Given the description of an element on the screen output the (x, y) to click on. 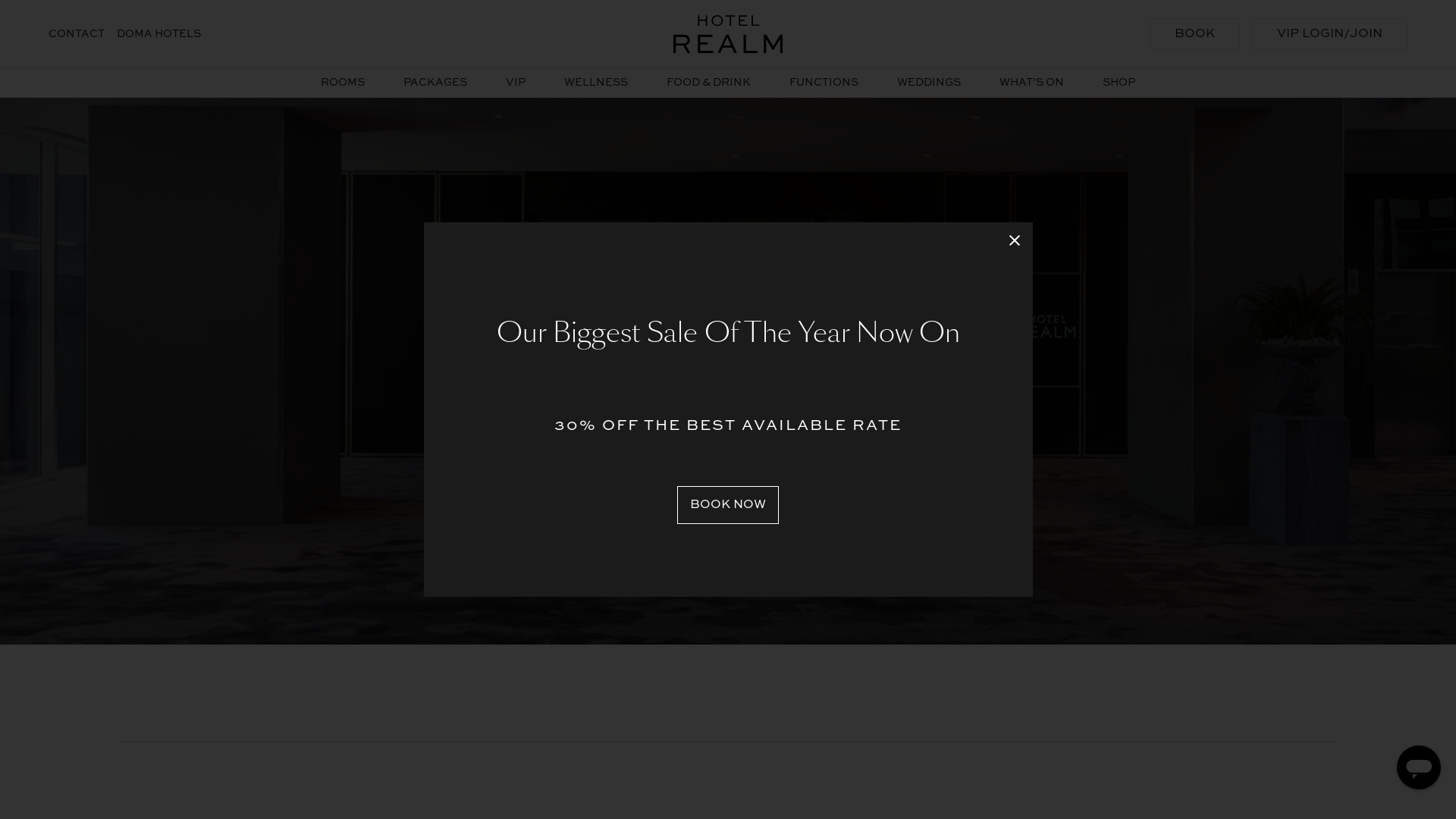
SHOP Element type: text (1118, 82)
ROOMS Element type: text (342, 82)
BOOK Element type: text (1194, 34)
CONTACT Element type: text (76, 33)
VIP Element type: text (515, 82)
WEDDINGS Element type: text (928, 82)
VIP LOGIN/JOIN Element type: text (1329, 34)
ENQUIRE NOW Element type: text (728, 458)
BOOK NOW Element type: text (727, 505)
WELLNESS Element type: text (596, 82)
PACKAGES Element type: text (435, 82)
DOMA HOTELS Element type: text (158, 33)
FOOD & DRINK Element type: text (708, 82)
FUNCTIONS Element type: text (823, 82)
